Given the description of an element on the screen output the (x, y) to click on. 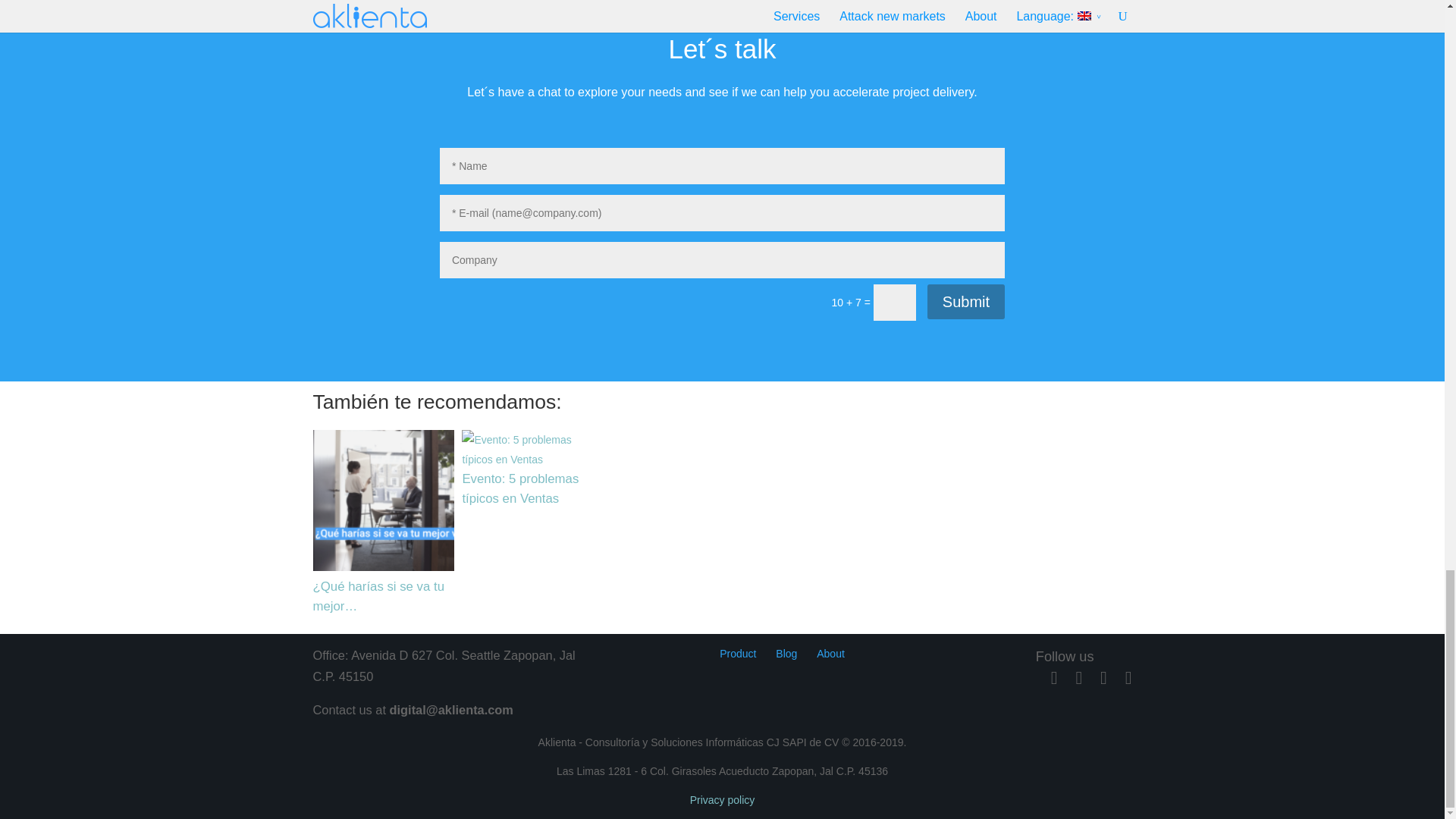
Submit (965, 301)
Submit (965, 301)
Privacy policy (722, 799)
About (830, 653)
Blog (786, 653)
Product (737, 653)
